Given the description of an element on the screen output the (x, y) to click on. 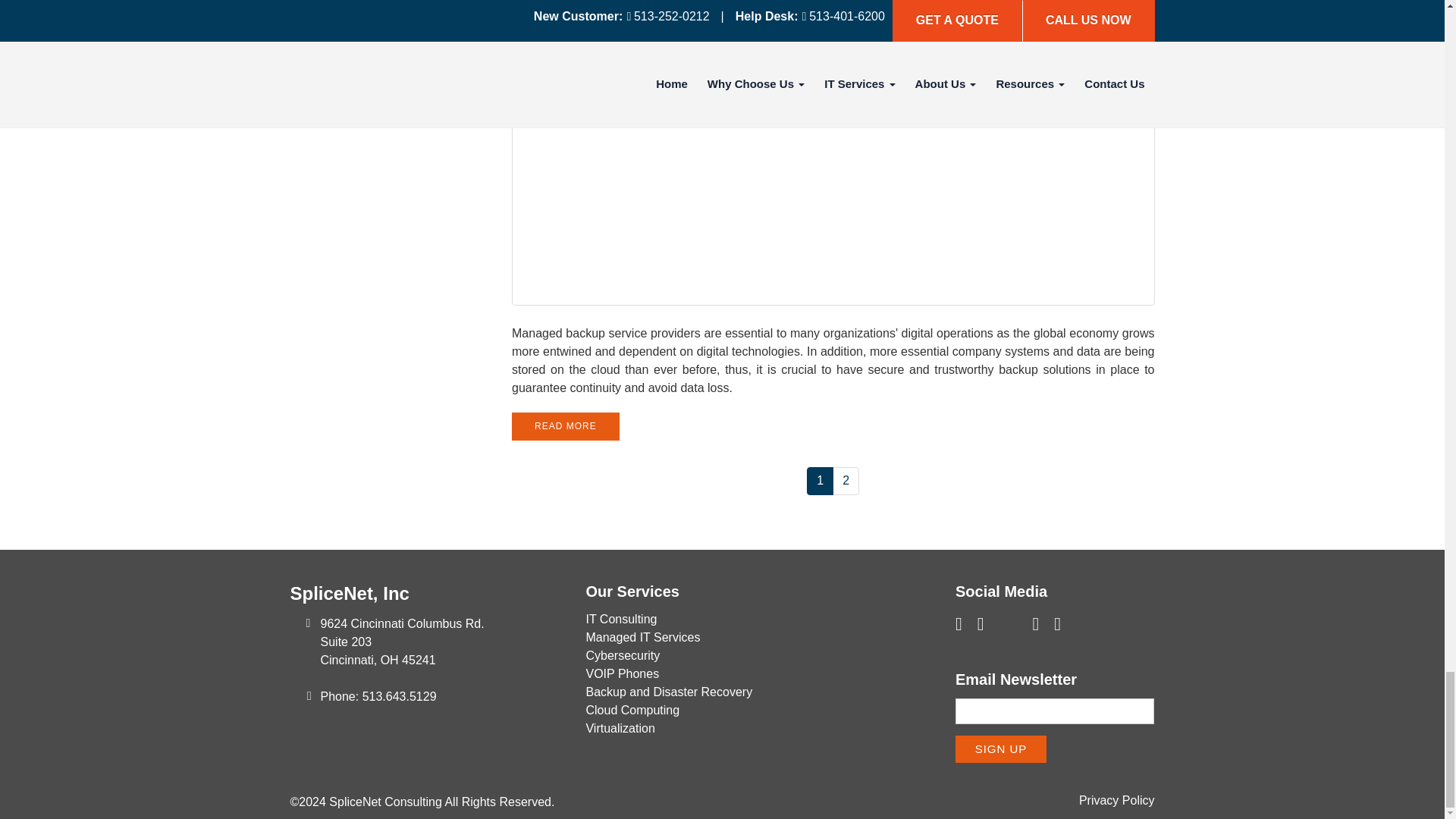
Sign Up (1000, 748)
